Given the description of an element on the screen output the (x, y) to click on. 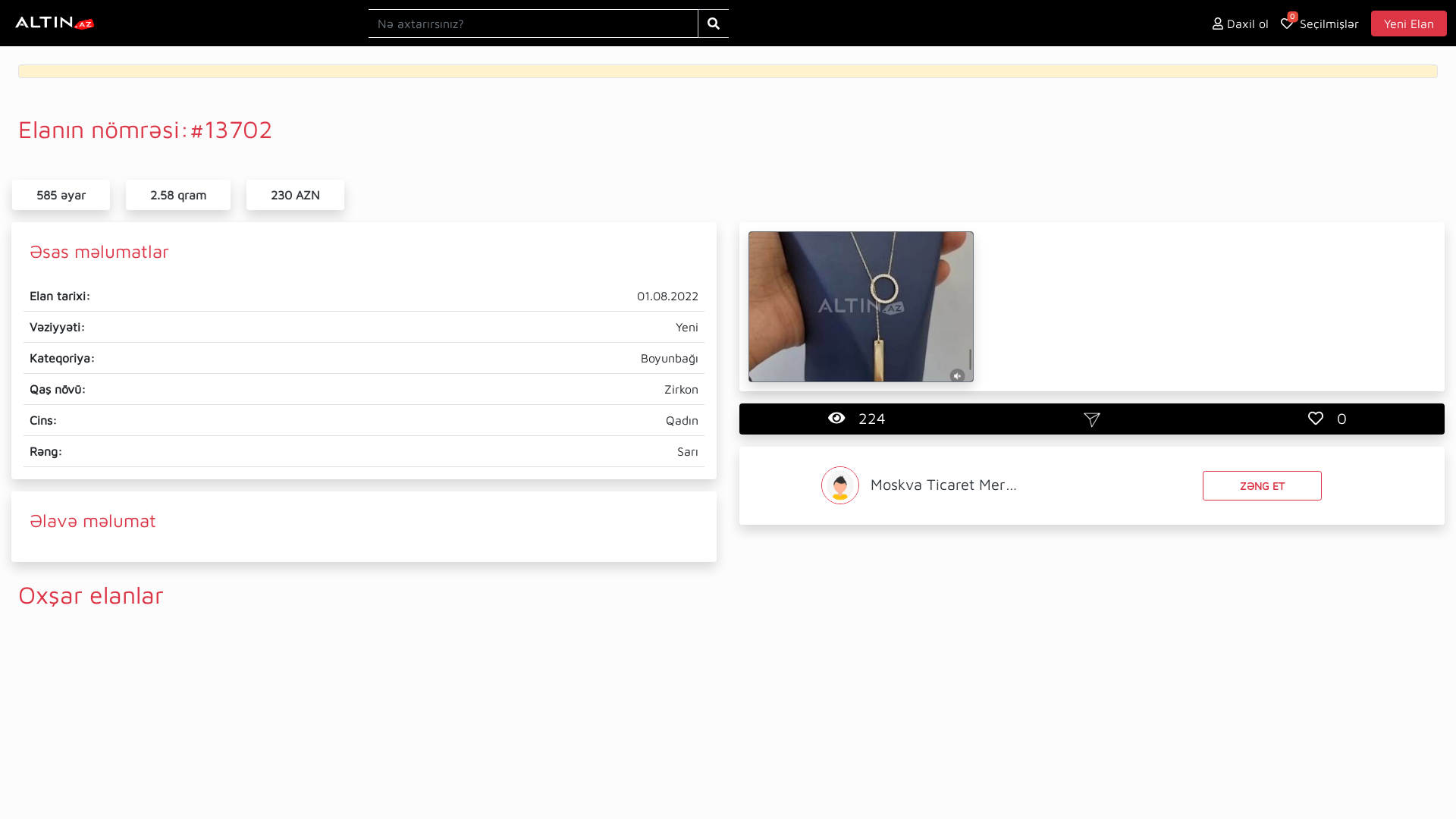
Yeni Elan Element type: text (1408, 23)
Daxil ol Element type: text (1240, 22)
